Given the description of an element on the screen output the (x, y) to click on. 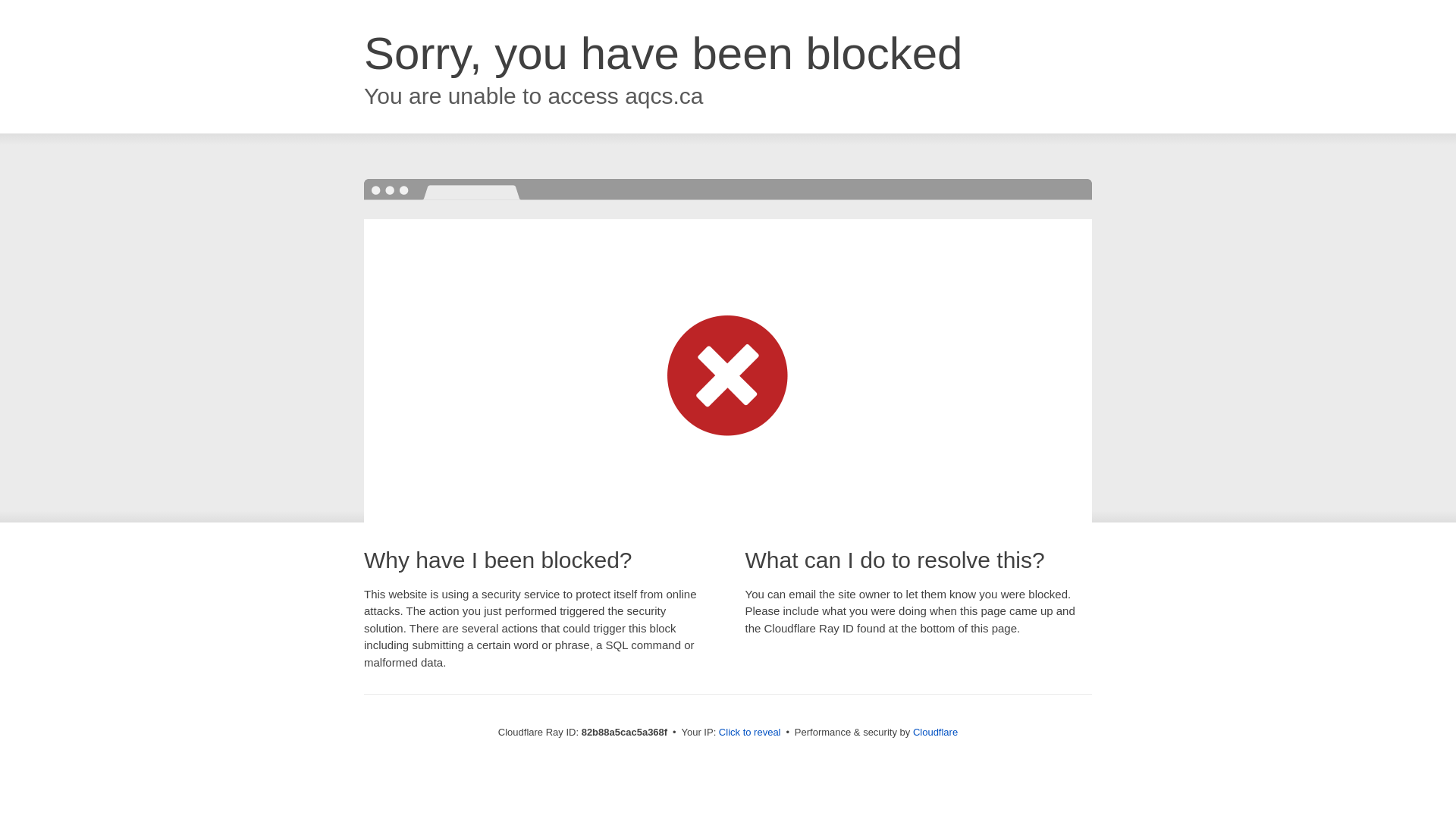
Click to reveal Element type: text (749, 732)
Cloudflare Element type: text (935, 731)
